Given the description of an element on the screen output the (x, y) to click on. 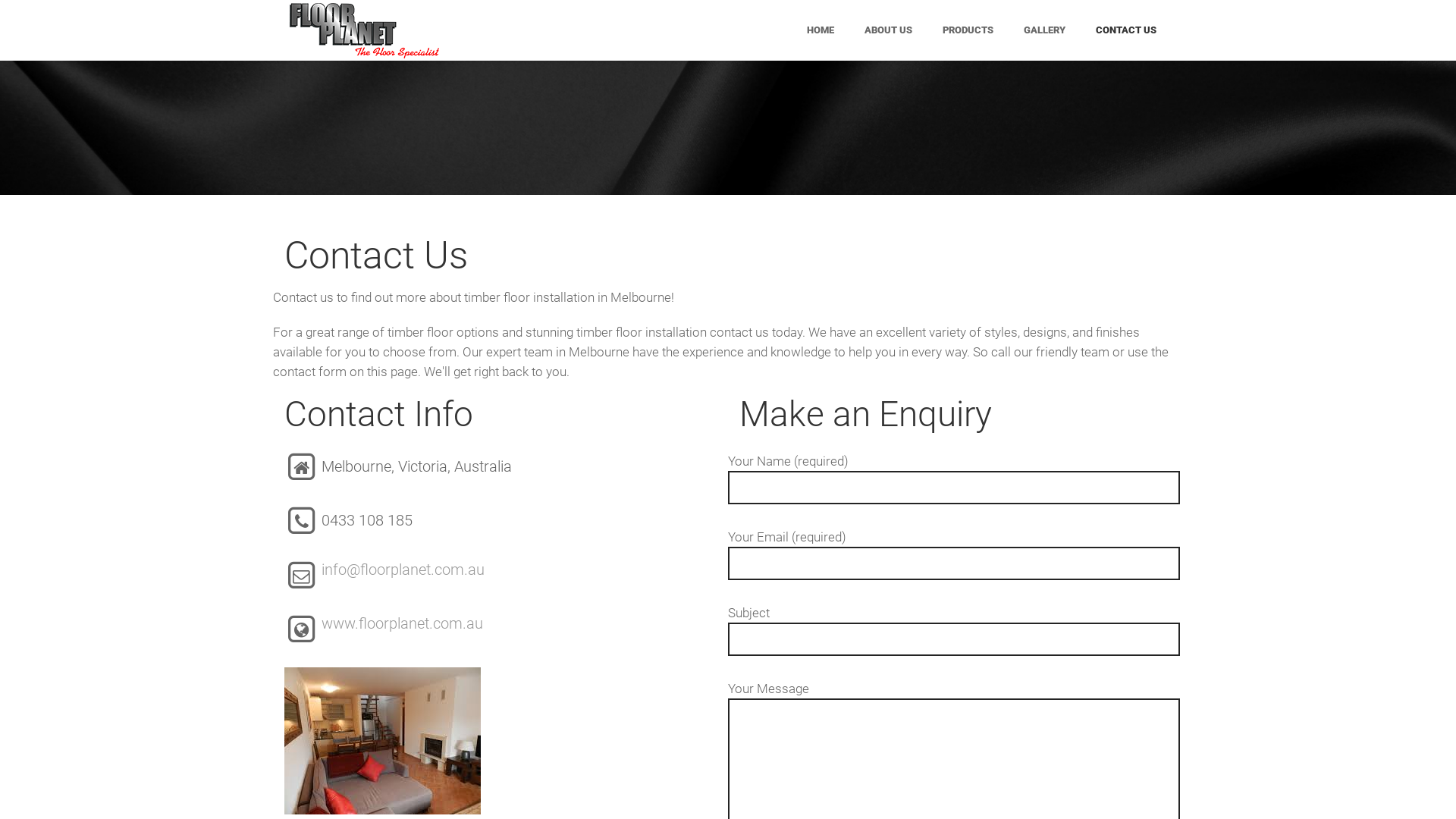
ABOUT US Element type: text (888, 30)
www.floorplanet.com.au Element type: text (393, 690)
Donvale, victoria Element type: hover (931, 565)
CONTACT US Element type: text (1125, 30)
PRODUCTS Element type: text (967, 30)
info@floorplanet.com.au Element type: text (394, 649)
GALLERY Element type: text (1044, 30)
info@floorplanet.com.au Element type: text (402, 569)
HOME Element type: text (820, 30)
Floor Planet Element type: hover (363, 29)
www.floorplanet.com.au Element type: text (402, 623)
Donvale, victoria Element type: hover (931, 566)
